Given the description of an element on the screen output the (x, y) to click on. 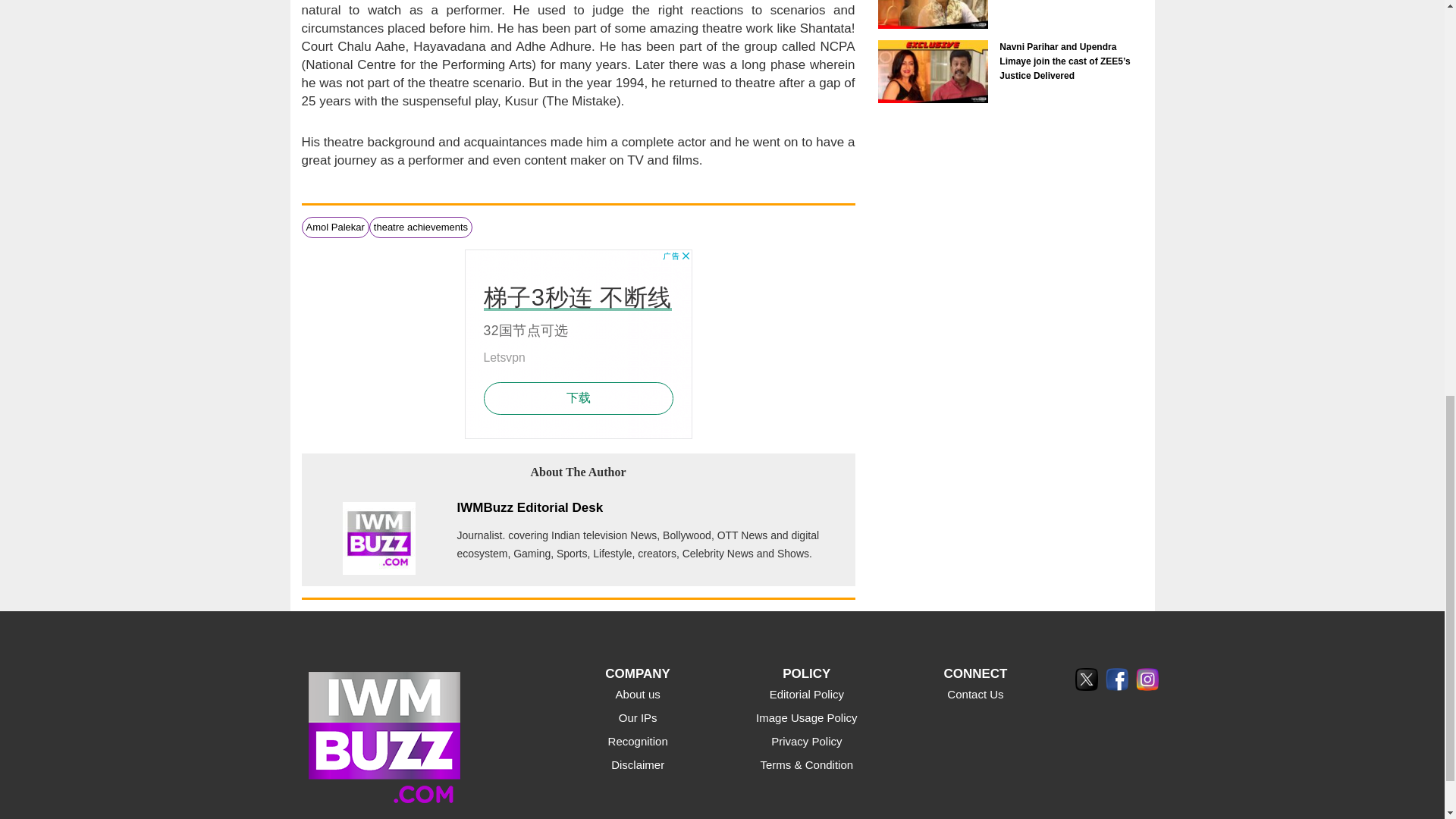
IWMBuzz Editorial Desk (529, 507)
3rd party ad content (577, 343)
Amol Palekar (335, 226)
theatre achievements (420, 226)
